Given the description of an element on the screen output the (x, y) to click on. 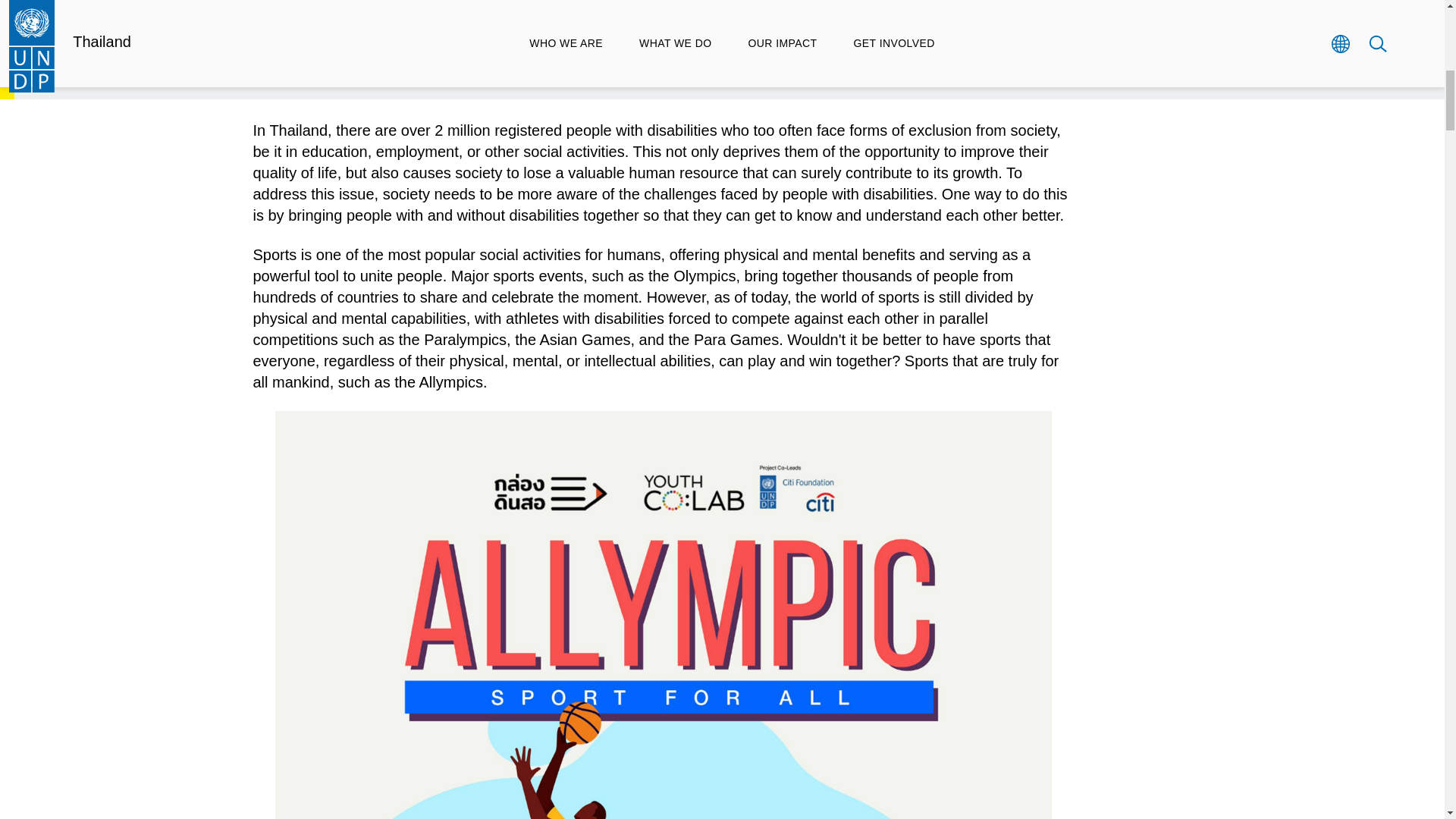
Sports for All (721, 13)
